Given the description of an element on the screen output the (x, y) to click on. 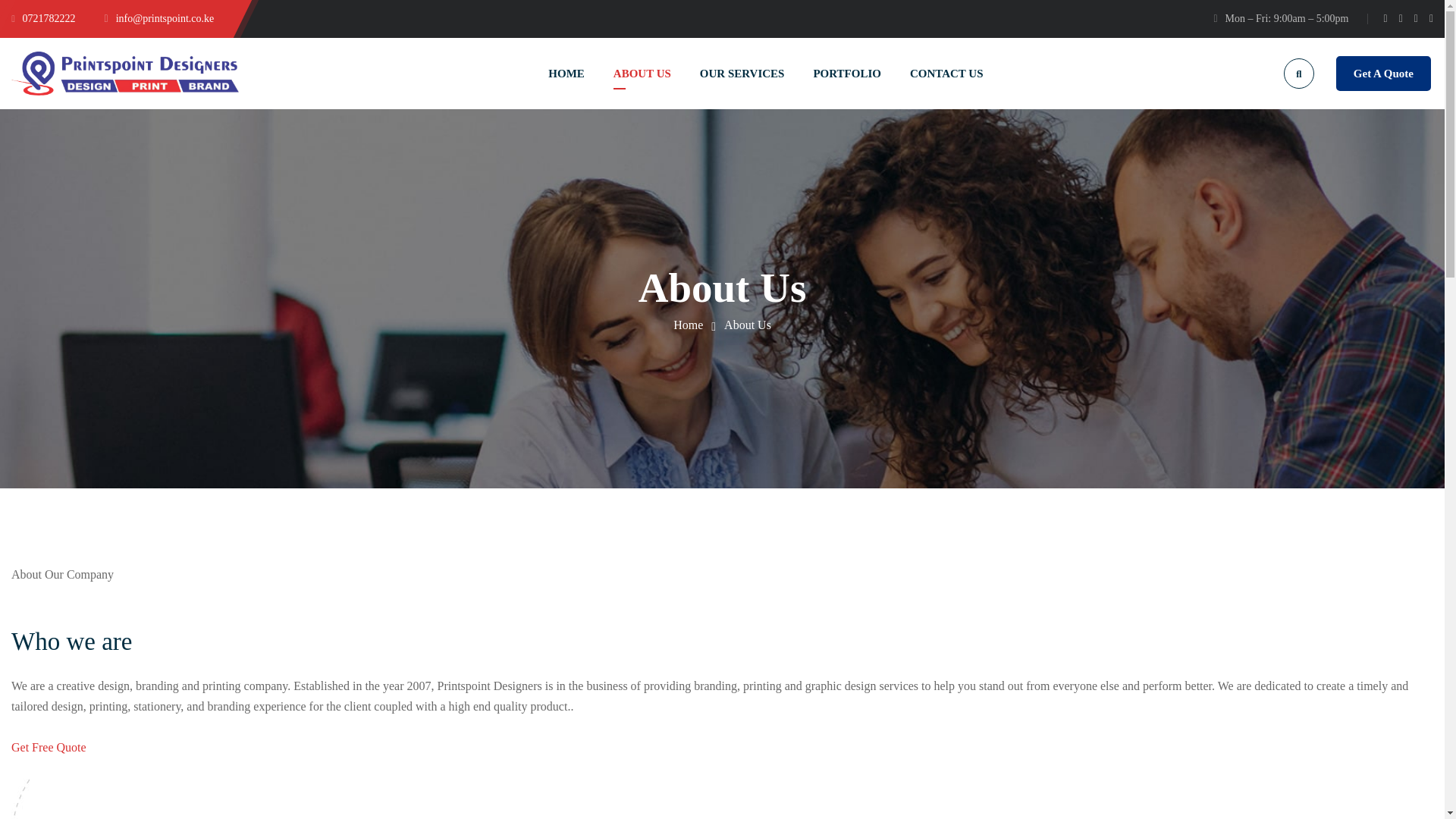
OUR SERVICES (742, 72)
Get A Quote (1382, 73)
0721782222 (43, 18)
Prints Point Designers (124, 73)
Get Free Quote (48, 757)
Prints Point Designers (687, 324)
PORTFOLIO (846, 72)
CONTACT US (947, 72)
Home (687, 324)
